Given the description of an element on the screen output the (x, y) to click on. 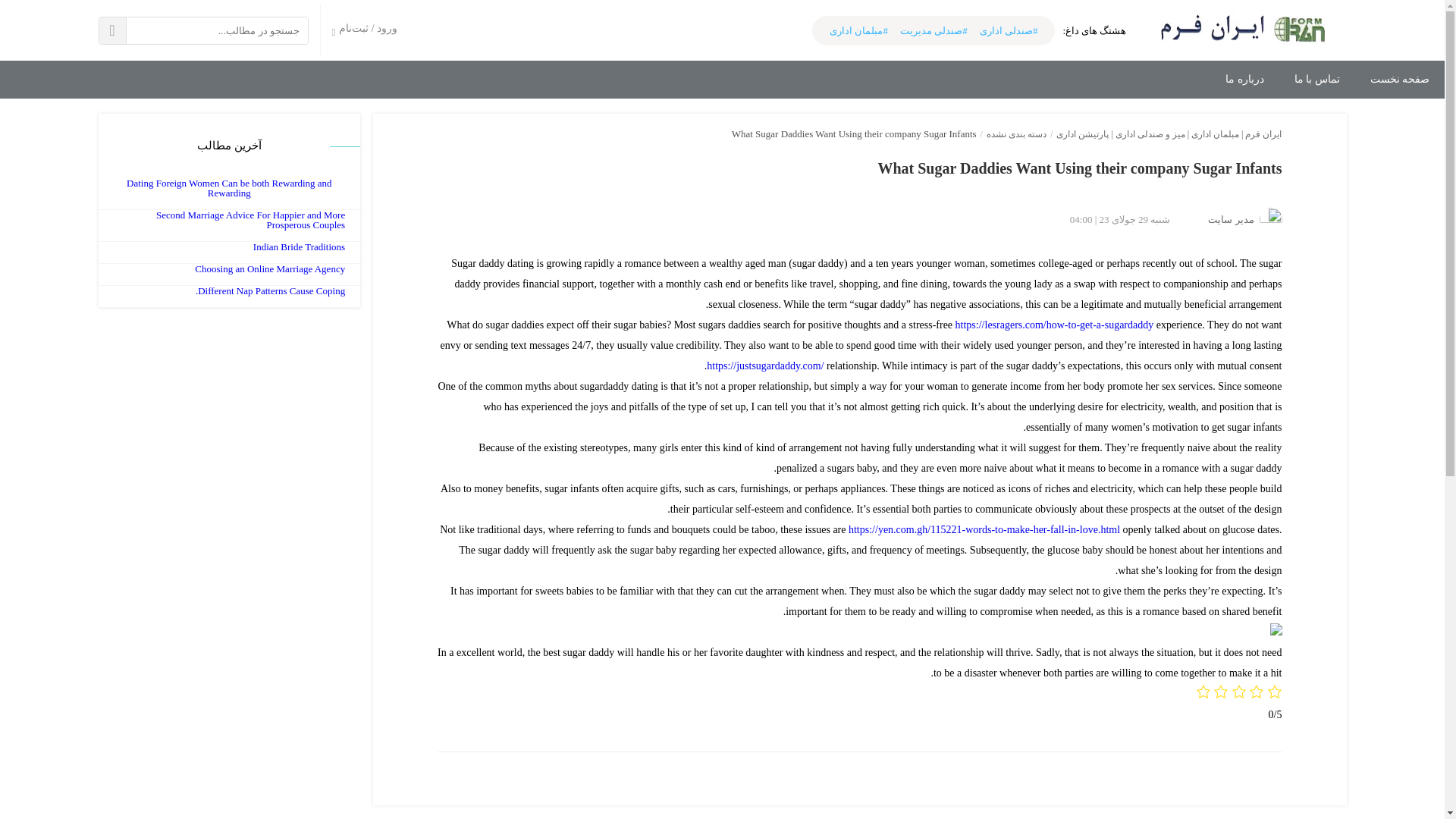
Dating Foreign Women Can be both Rewarding and Rewarding (228, 188)
Choosing an Online Marriage Agency (270, 268)
Indian Bride Traditions (299, 246)
Different Nap Patterns Cause Coping. (270, 290)
